Given the description of an element on the screen output the (x, y) to click on. 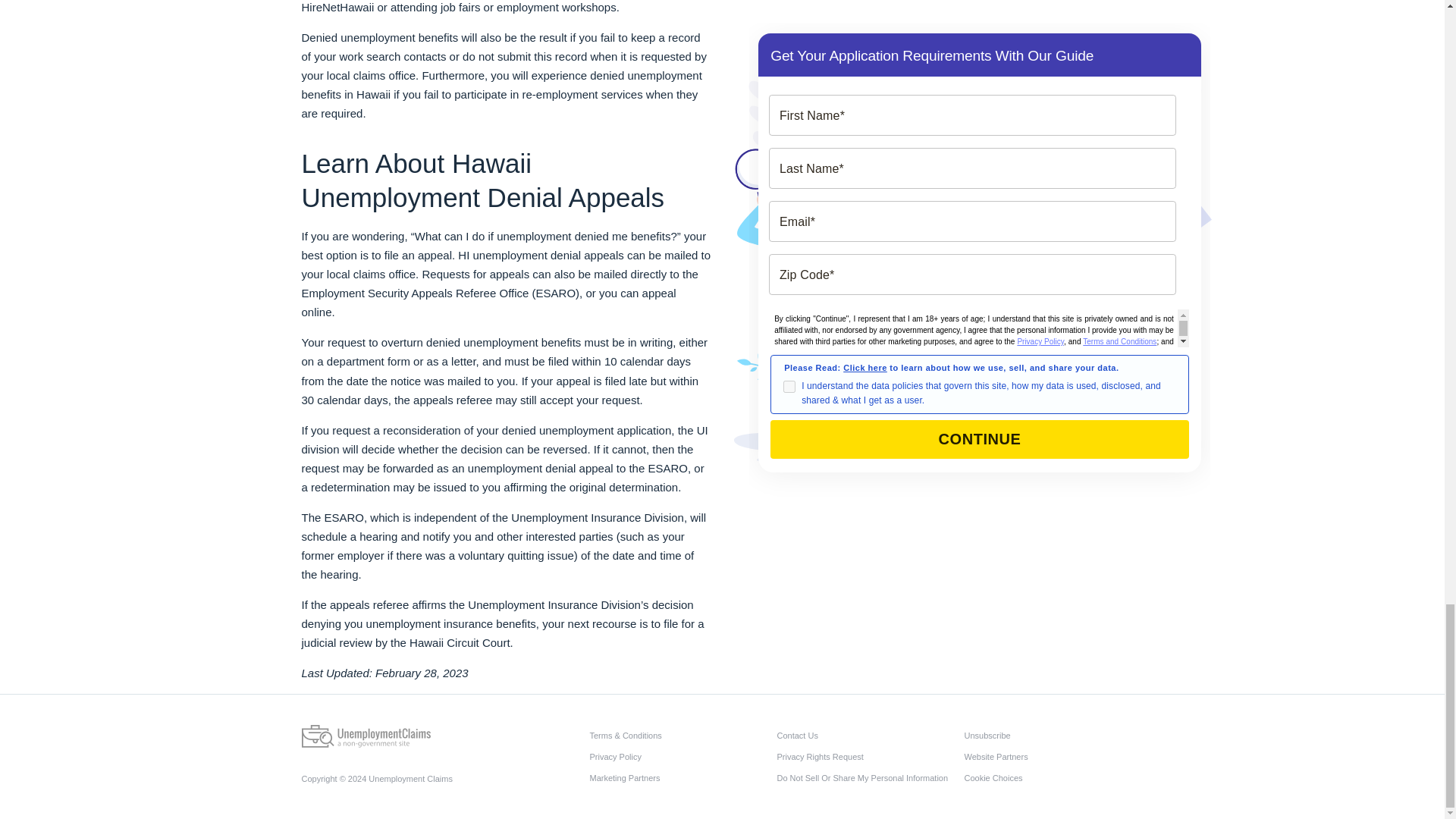
Privacy Rights Request (865, 756)
Do Not Sell Or Share My Personal Information (865, 777)
Unsubscribe (1052, 735)
Cookie Choices (1052, 777)
Website Partners (1052, 756)
Privacy Policy (678, 756)
Do Not Sell Or Share My Personal Information (865, 777)
Privacy Policy (678, 756)
Contact Us (865, 735)
UnemploymentClaims.org (365, 735)
Marketing Partners (678, 777)
Privacy Rights Request (865, 756)
Unsubscribe (1052, 735)
Website Partners (1052, 756)
Marketing Partners (678, 777)
